Given the description of an element on the screen output the (x, y) to click on. 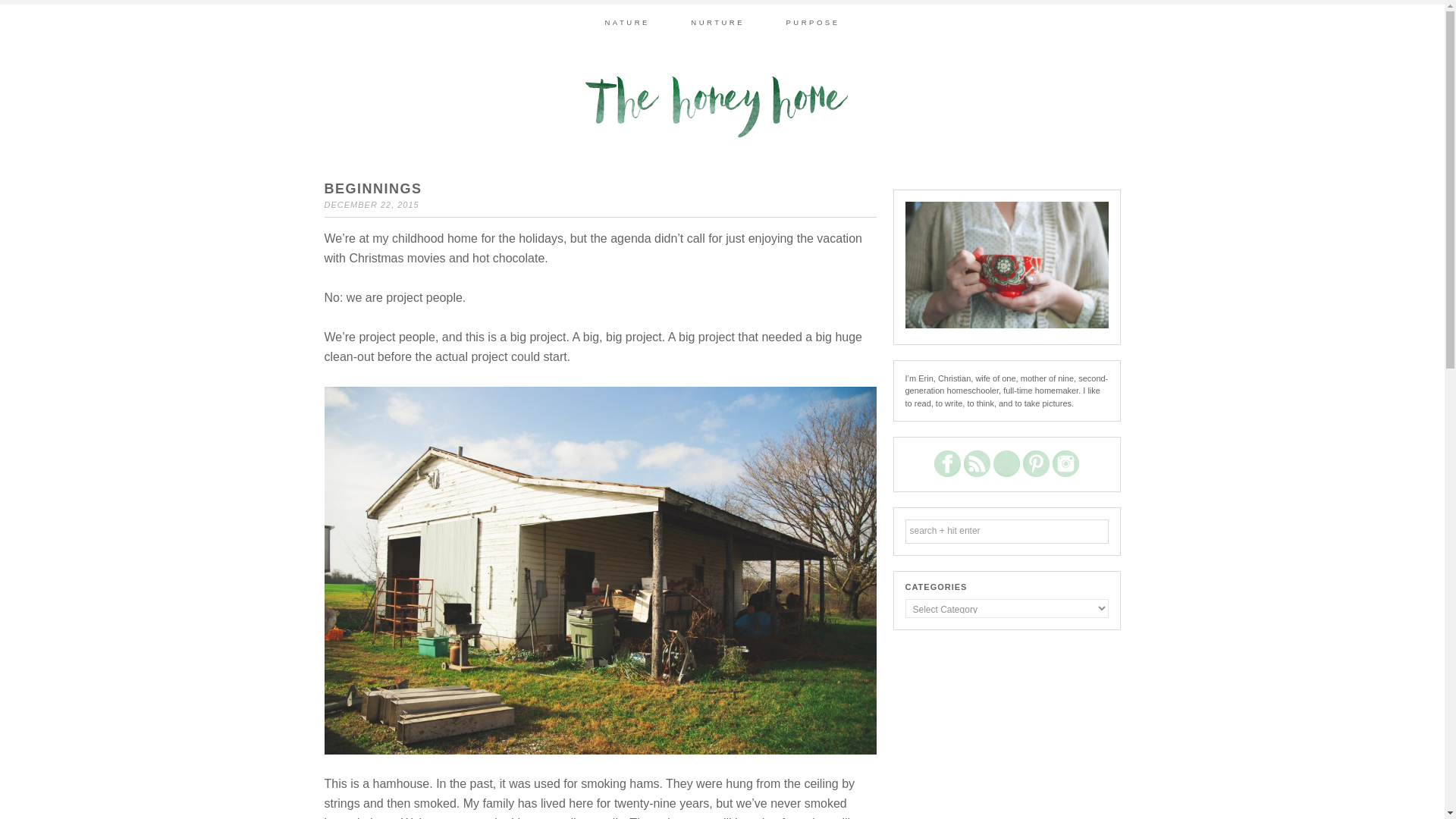
PURPOSE (813, 22)
THE HONEY HOME (721, 105)
BEGINNINGS (373, 188)
NURTURE (716, 22)
NATURE (626, 22)
